Given the description of an element on the screen output the (x, y) to click on. 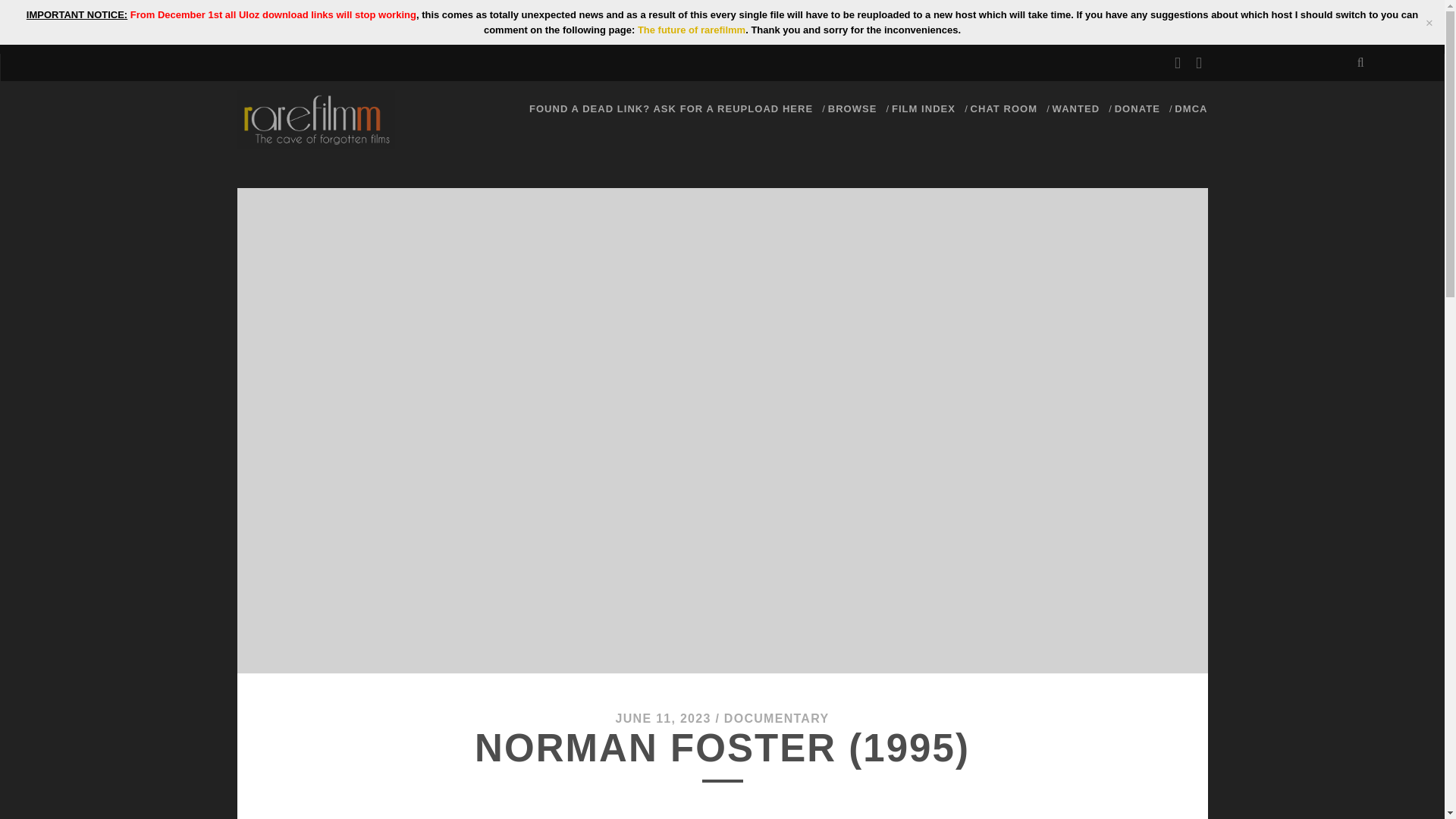
DONATE (1137, 108)
FILM INDEX (923, 108)
BROWSE (852, 108)
CHAT ROOM (1004, 108)
DOCUMENTARY (776, 717)
WANTED (1076, 108)
The future of rarefilmm (691, 30)
DMCA (1190, 108)
FOUND A DEAD LINK? ASK FOR A REUPLOAD HERE (670, 108)
